Given the description of an element on the screen output the (x, y) to click on. 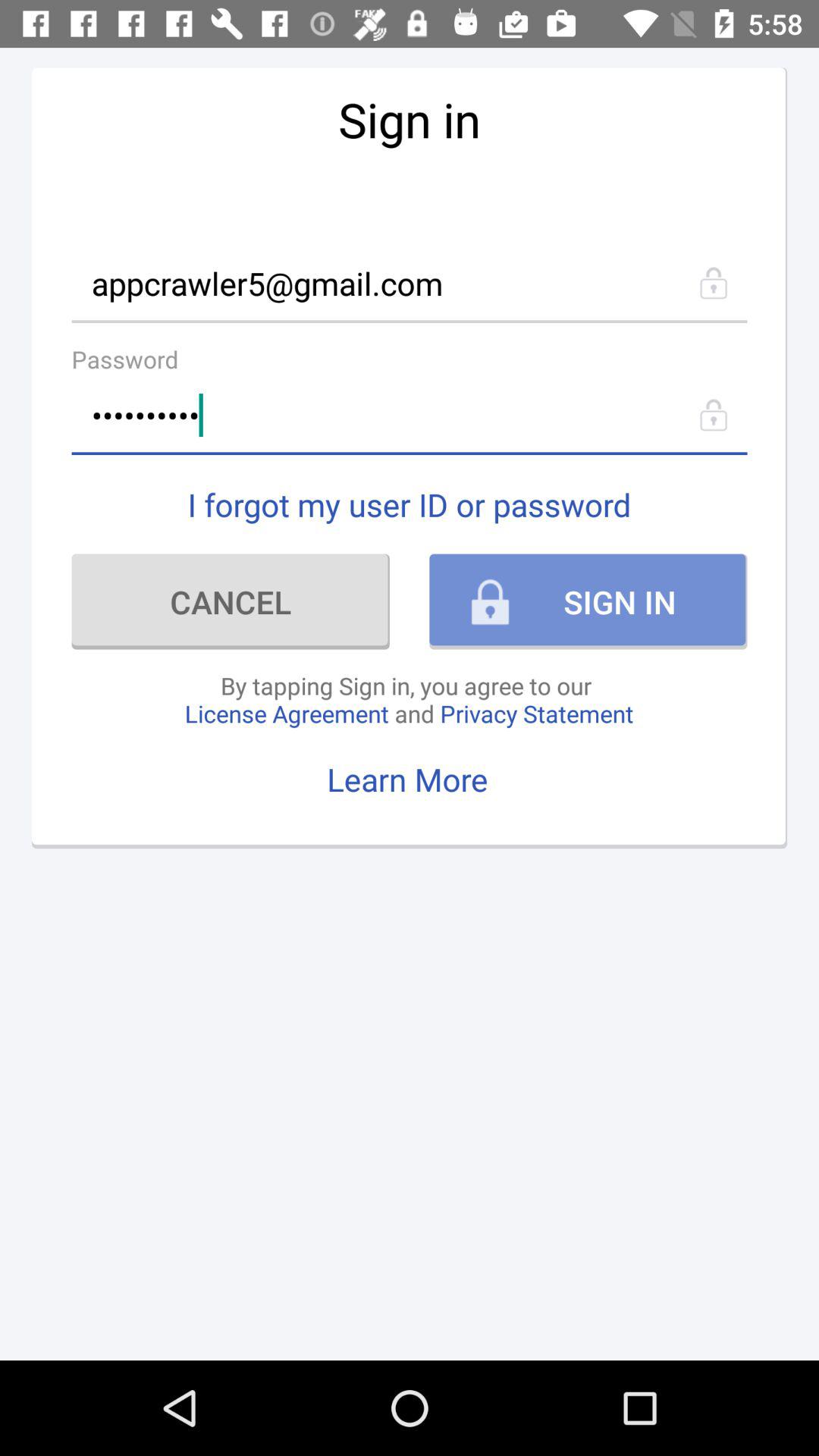
select the cancel on the left (230, 601)
